Given the description of an element on the screen output the (x, y) to click on. 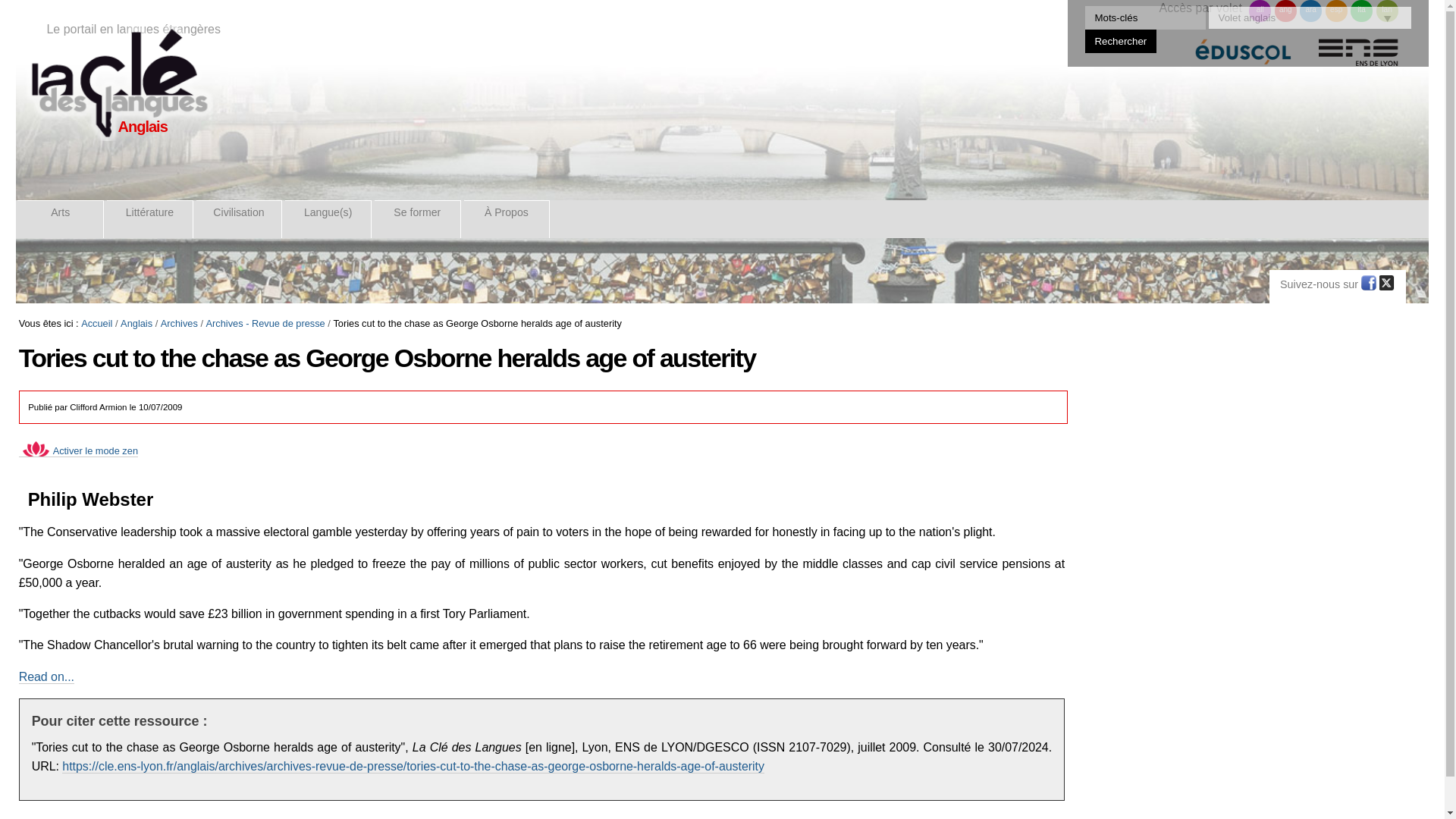
EduScol (1243, 59)
Recherche (1145, 17)
Rechercher (1120, 41)
all (1260, 11)
Rechercher (1120, 41)
Se former (417, 218)
Rechercher (1120, 41)
Civilisation (239, 218)
lan (1386, 11)
Arts (60, 218)
ara (1311, 11)
ita (1362, 11)
esp (1336, 11)
ang (1286, 11)
Retour au portail (117, 82)
